Given the description of an element on the screen output the (x, y) to click on. 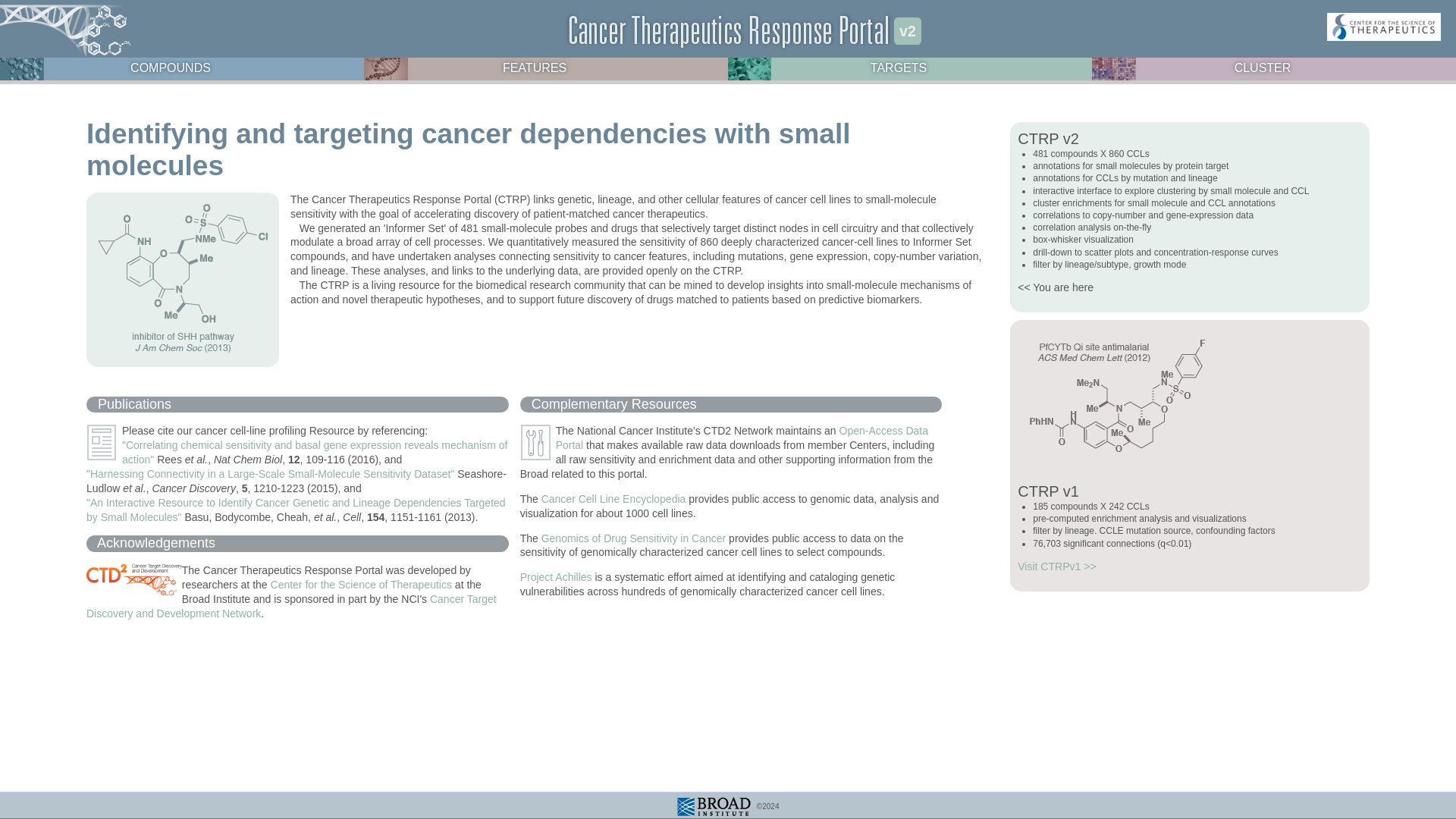
CLUSTER (1262, 66)
Cancer Cell Line Encyclopedia (613, 499)
Center for the Science of Therapeutics (360, 584)
Project Achilles (555, 576)
Genomics of Drug Sensitivity in Cancer (633, 538)
COMPOUNDS (171, 66)
FEATURES (534, 66)
Open-Access Data Portal (742, 438)
TARGETS (898, 66)
Cancer Target Discovery and Development Network (290, 605)
